Given the description of an element on the screen output the (x, y) to click on. 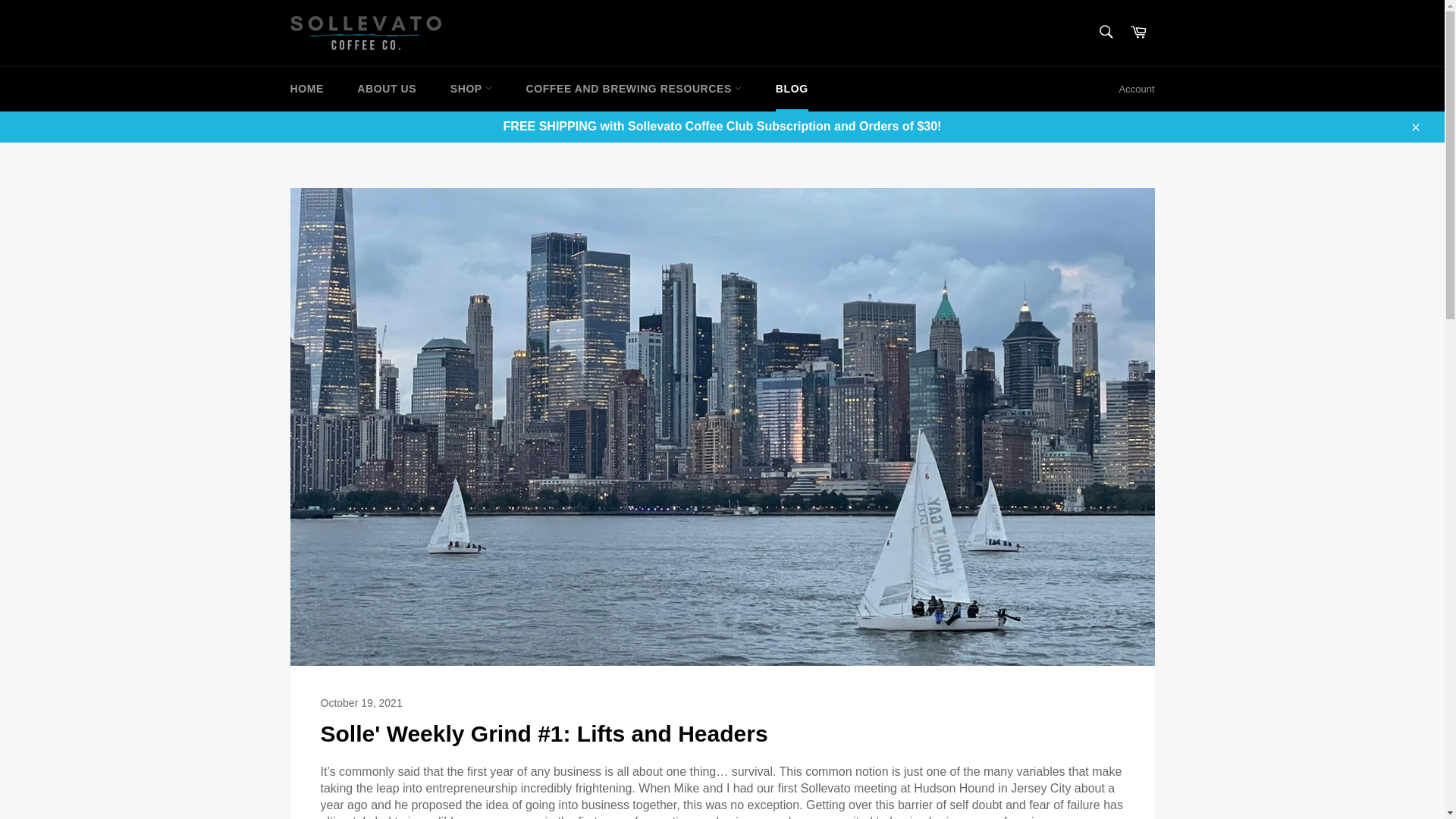
SHOP (470, 88)
Search (1104, 31)
Cart (1138, 32)
ABOUT US (386, 88)
BLOG (792, 88)
HOME (306, 88)
COFFEE AND BREWING RESOURCES (634, 88)
